Given the description of an element on the screen output the (x, y) to click on. 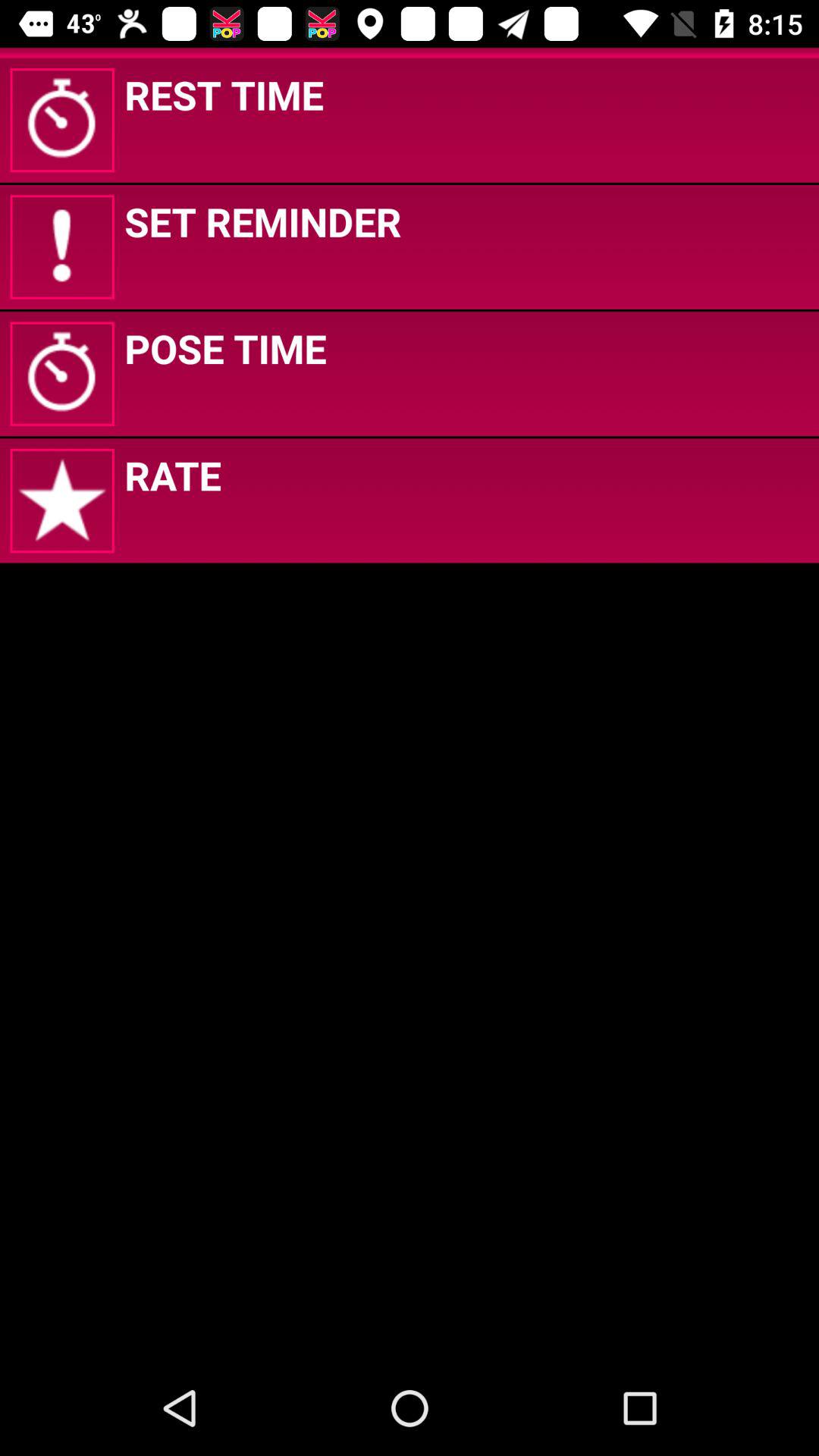
click icon below the set reminder app (225, 347)
